Given the description of an element on the screen output the (x, y) to click on. 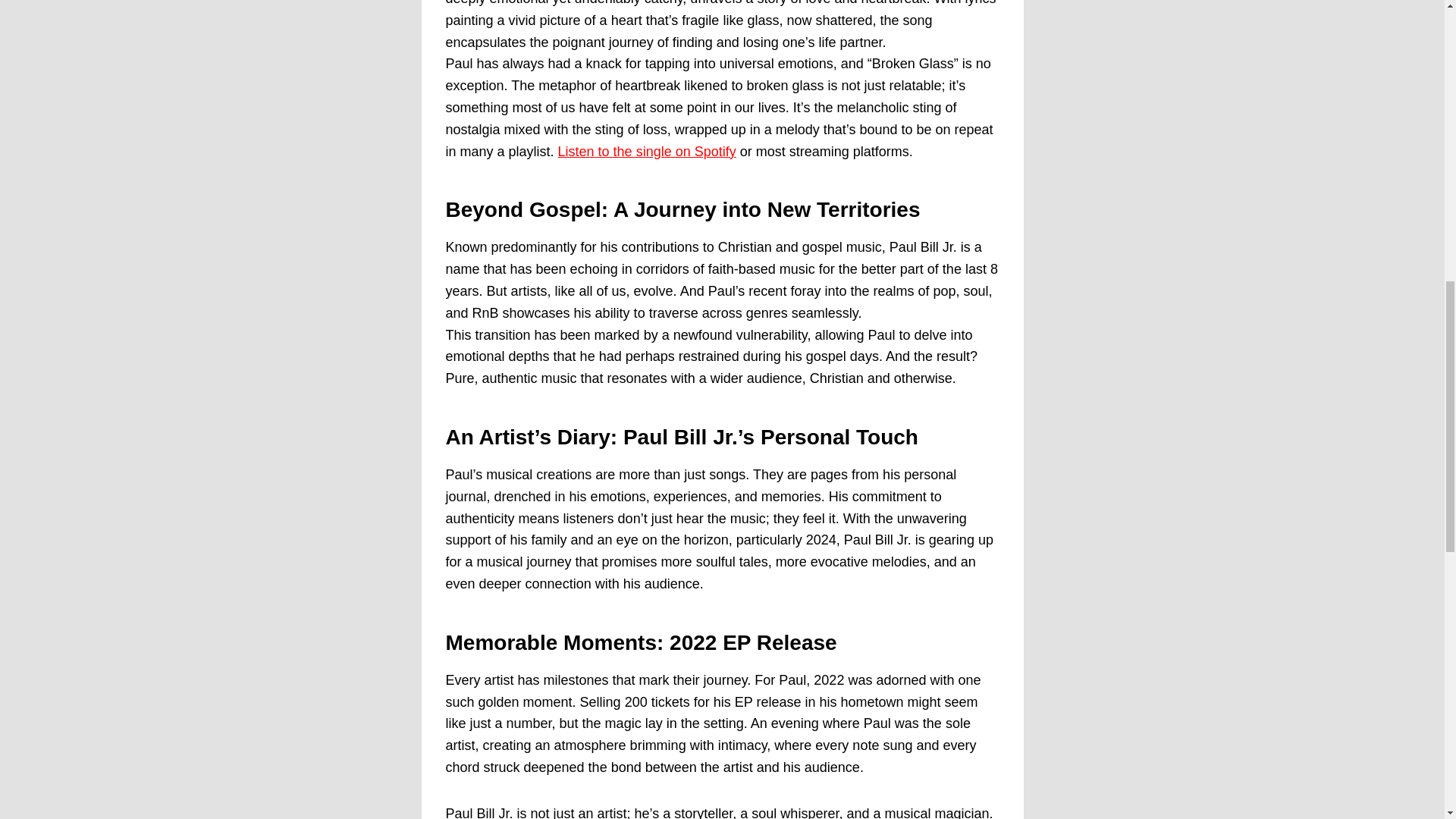
Listen to the single on Spotify (646, 151)
